Given the description of an element on the screen output the (x, y) to click on. 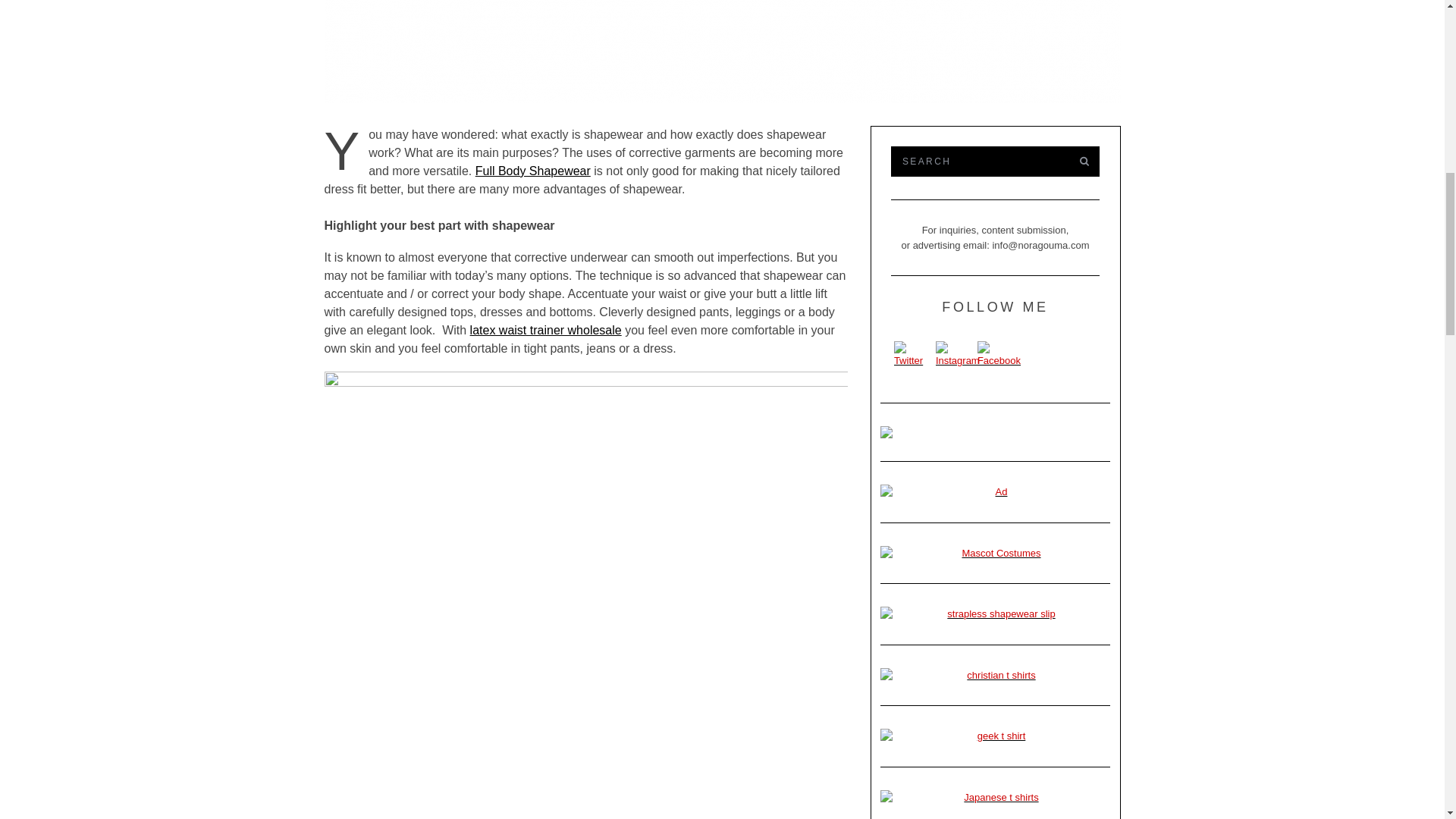
christian t shirts (994, 675)
Twitter (913, 354)
Affordbable Mascot Costumes for Every Event - Buyamascot.com (994, 553)
Facebook (998, 354)
Search (976, 161)
Instagram (957, 354)
geek t shirt (994, 735)
Japanese t shirts (994, 797)
